Given the description of an element on the screen output the (x, y) to click on. 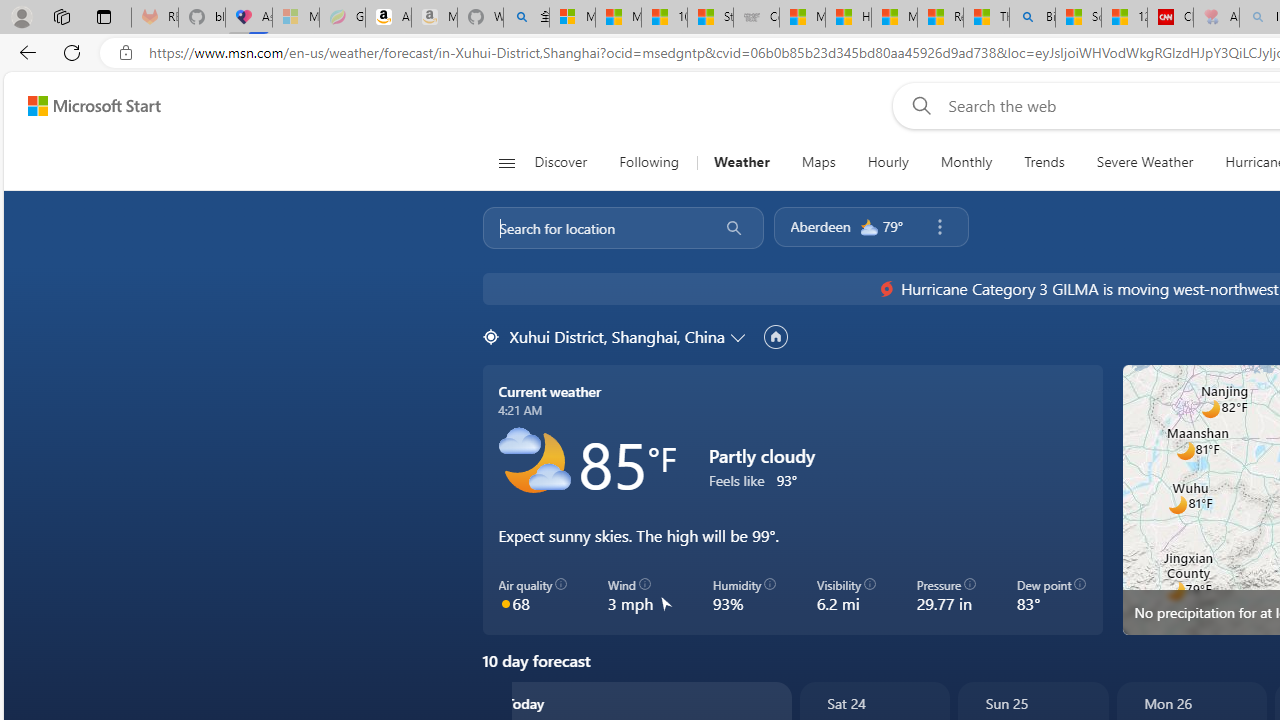
Humidity 93% (743, 595)
Wind 3 mph (639, 595)
Bing (1031, 17)
Trends (65, 651)
